Given the description of an element on the screen output the (x, y) to click on. 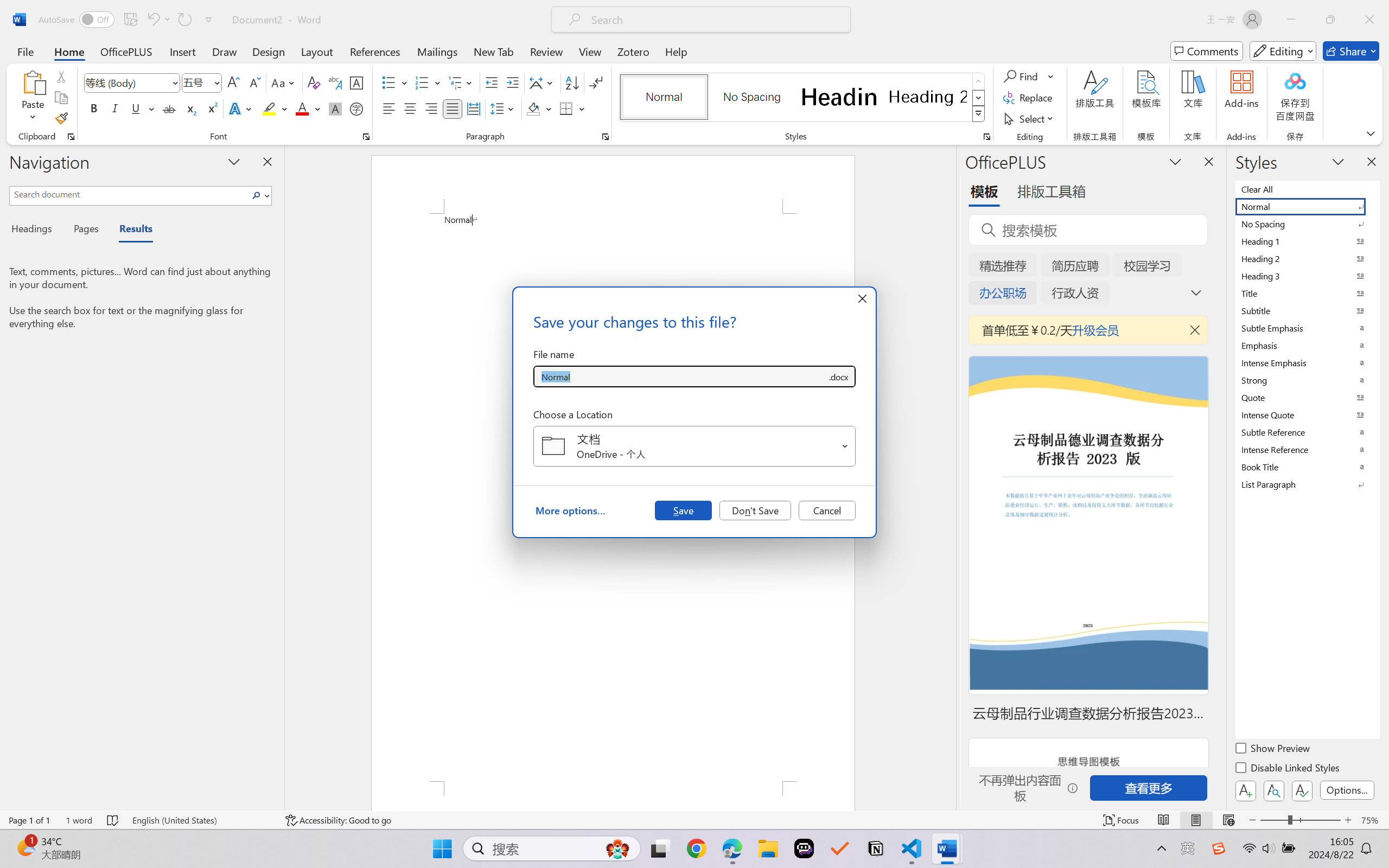
Undo Apply Quick Style (152, 19)
Character Border (356, 82)
Numbering (428, 82)
Choose a Location (694, 446)
List Paragraph (1306, 484)
Find (1029, 75)
Disable Linked Styles (1287, 769)
Subtle Emphasis (1306, 327)
Class: NetUIImage (978, 114)
Text Highlight Color Yellow (269, 108)
